Given the description of an element on the screen output the (x, y) to click on. 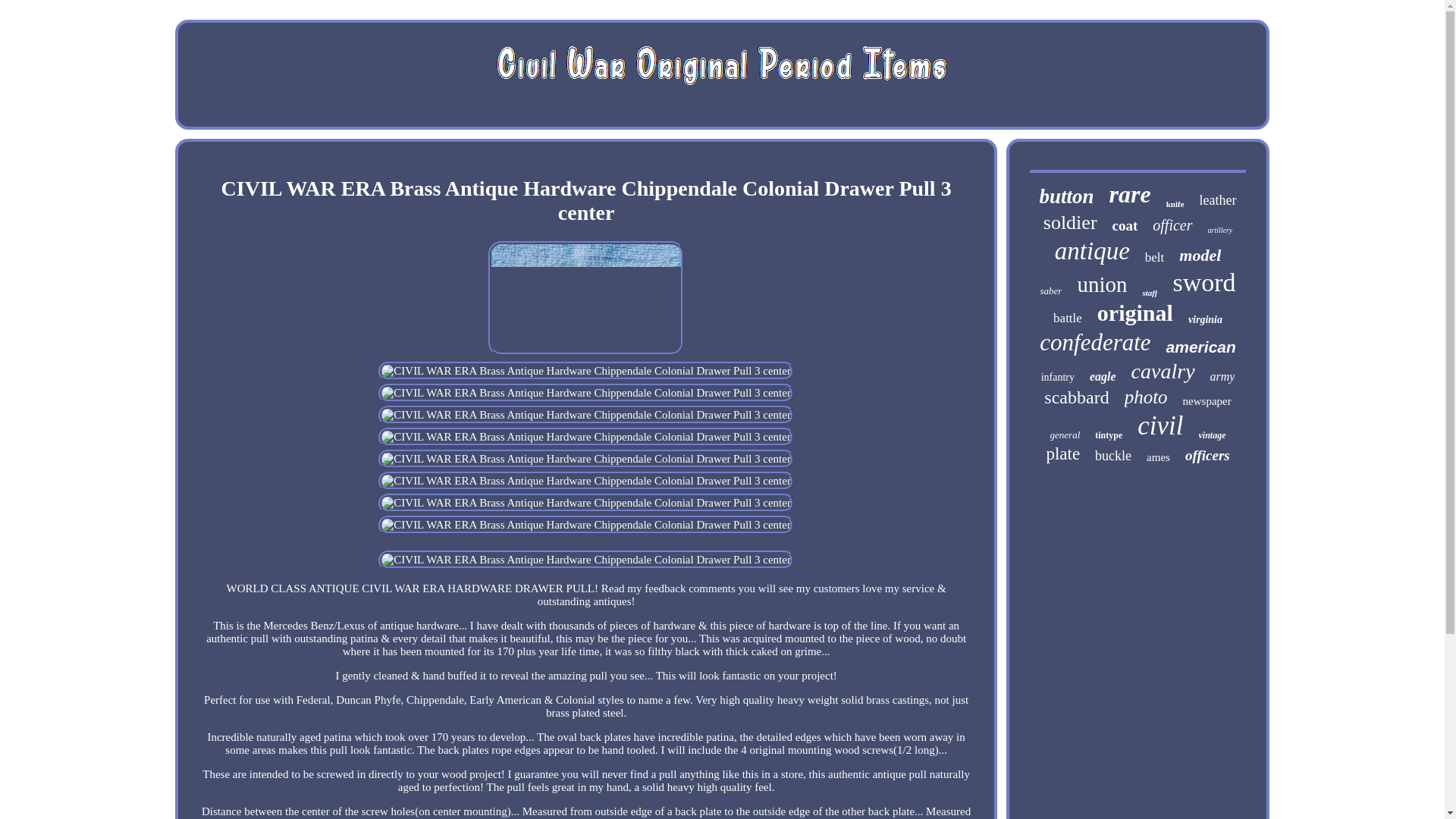
belt (1154, 257)
newspaper (1206, 400)
staff (1149, 292)
saber (1051, 291)
antique (1091, 251)
eagle (1102, 377)
battle (1066, 318)
coat (1125, 225)
confederate (1094, 342)
rare (1130, 194)
virginia (1205, 319)
general (1064, 435)
